Given the description of an element on the screen output the (x, y) to click on. 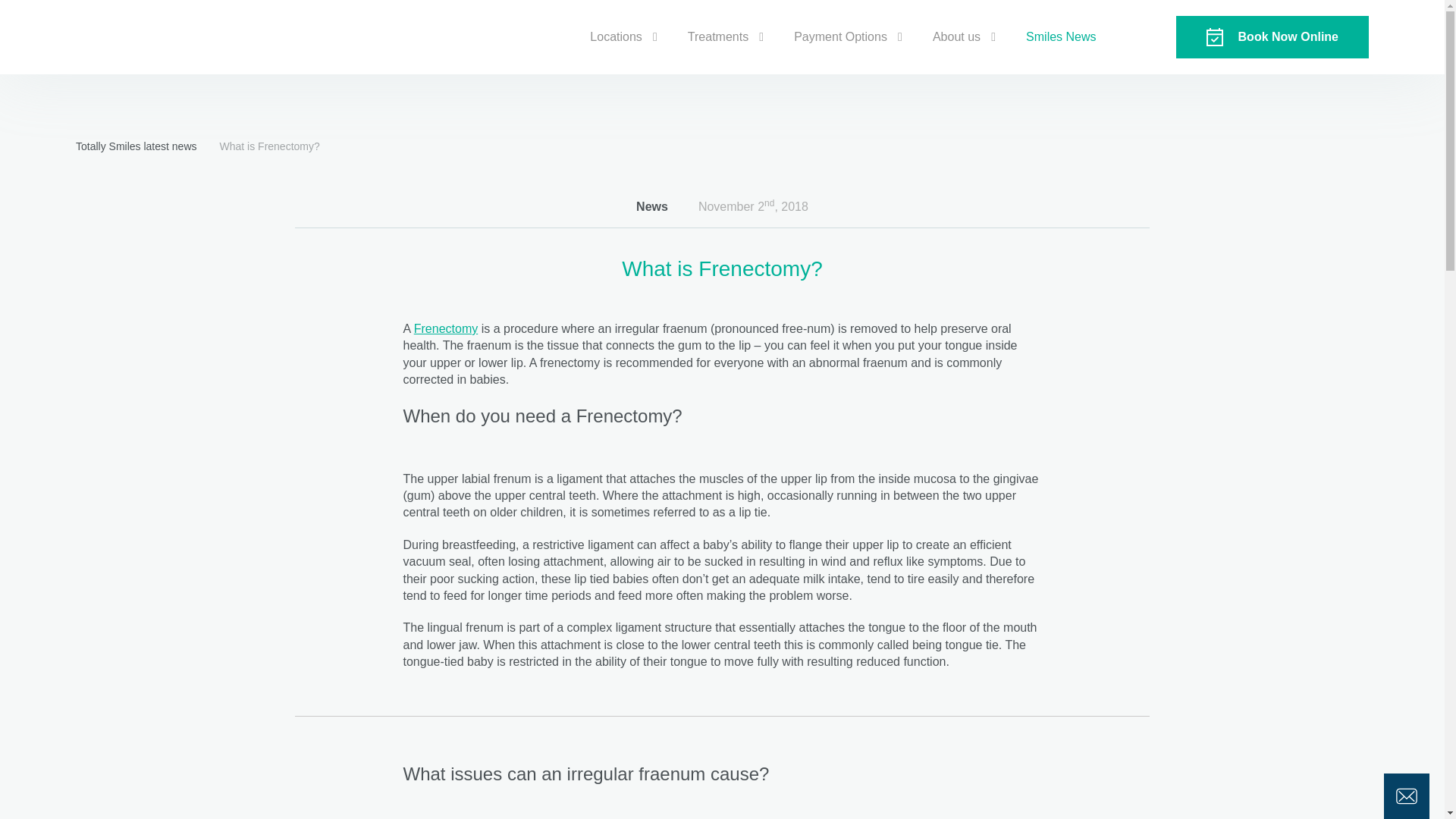
Payment Options (840, 37)
Go to Totally Smiles latest news. (135, 146)
News (652, 205)
Totally Smiles latest news (135, 146)
Smiles News (1060, 37)
Frenectomy (445, 328)
Totally Smiles (132, 36)
Treatments (717, 37)
About us (956, 37)
Locations (616, 37)
Book Now Online (1272, 36)
